Given the description of an element on the screen output the (x, y) to click on. 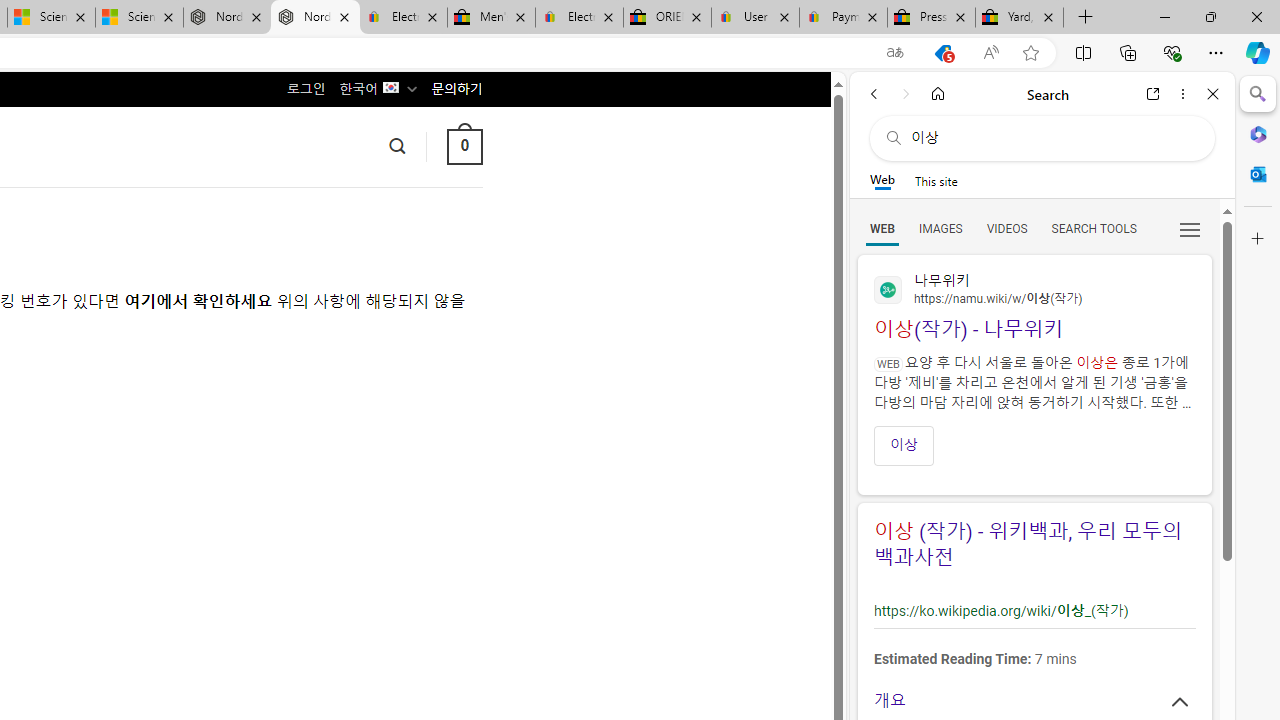
 0  (464, 146)
Show translate options (895, 53)
Search Filter, WEB (882, 228)
Search Filter, Search Tools (1093, 228)
Search the web (1051, 137)
